Given the description of an element on the screen output the (x, y) to click on. 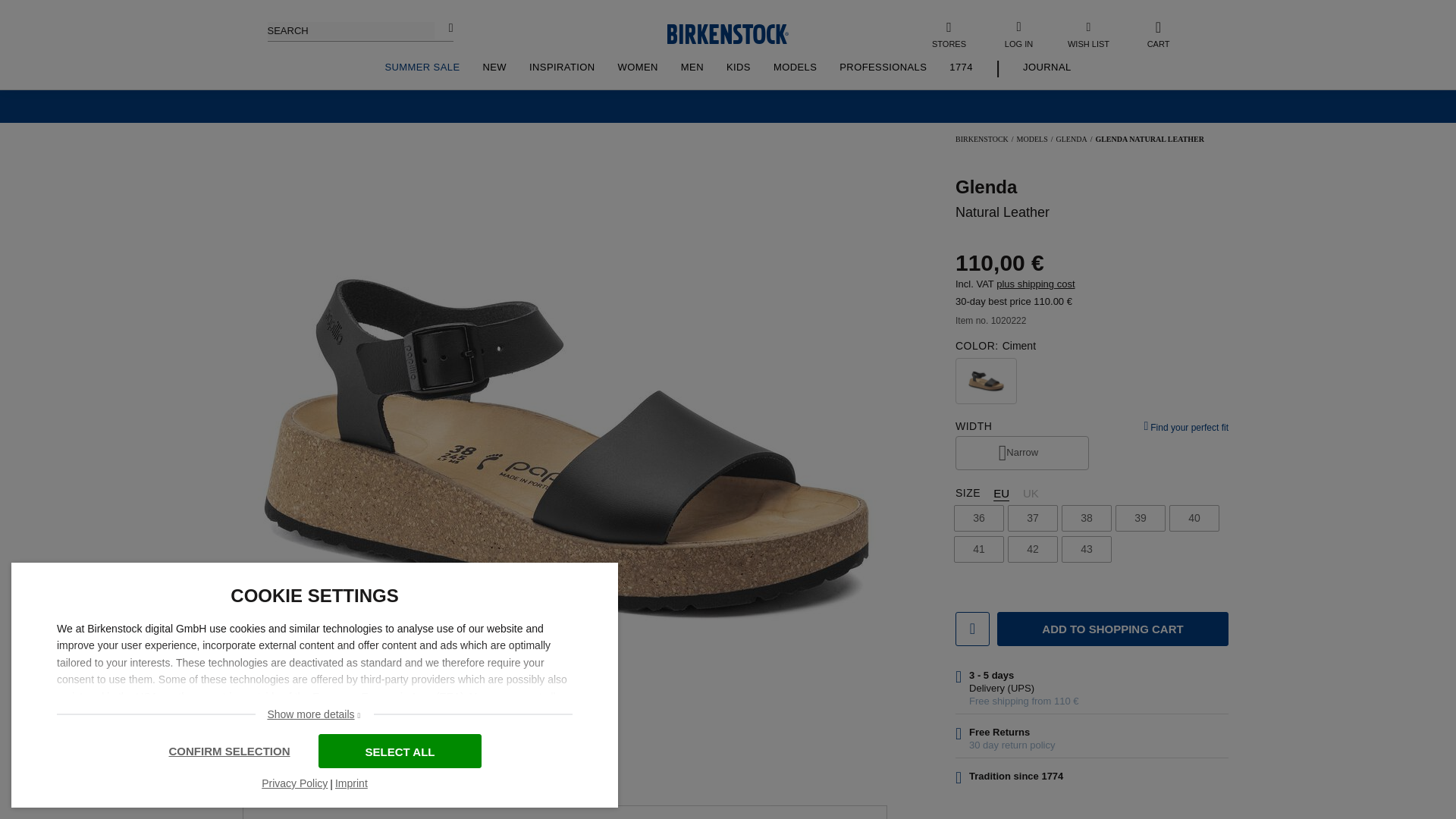
Glenda Natural Leather (284, 266)
INSPIRATION (562, 67)
Glenda Natural Leather (284, 440)
My information (1018, 33)
Glenda Natural Leather (284, 353)
Glenda Natural Leather (284, 180)
CART (1158, 33)
Show shopping cart (1158, 33)
LOG IN (1018, 33)
WISH LIST (1088, 33)
